Given the description of an element on the screen output the (x, y) to click on. 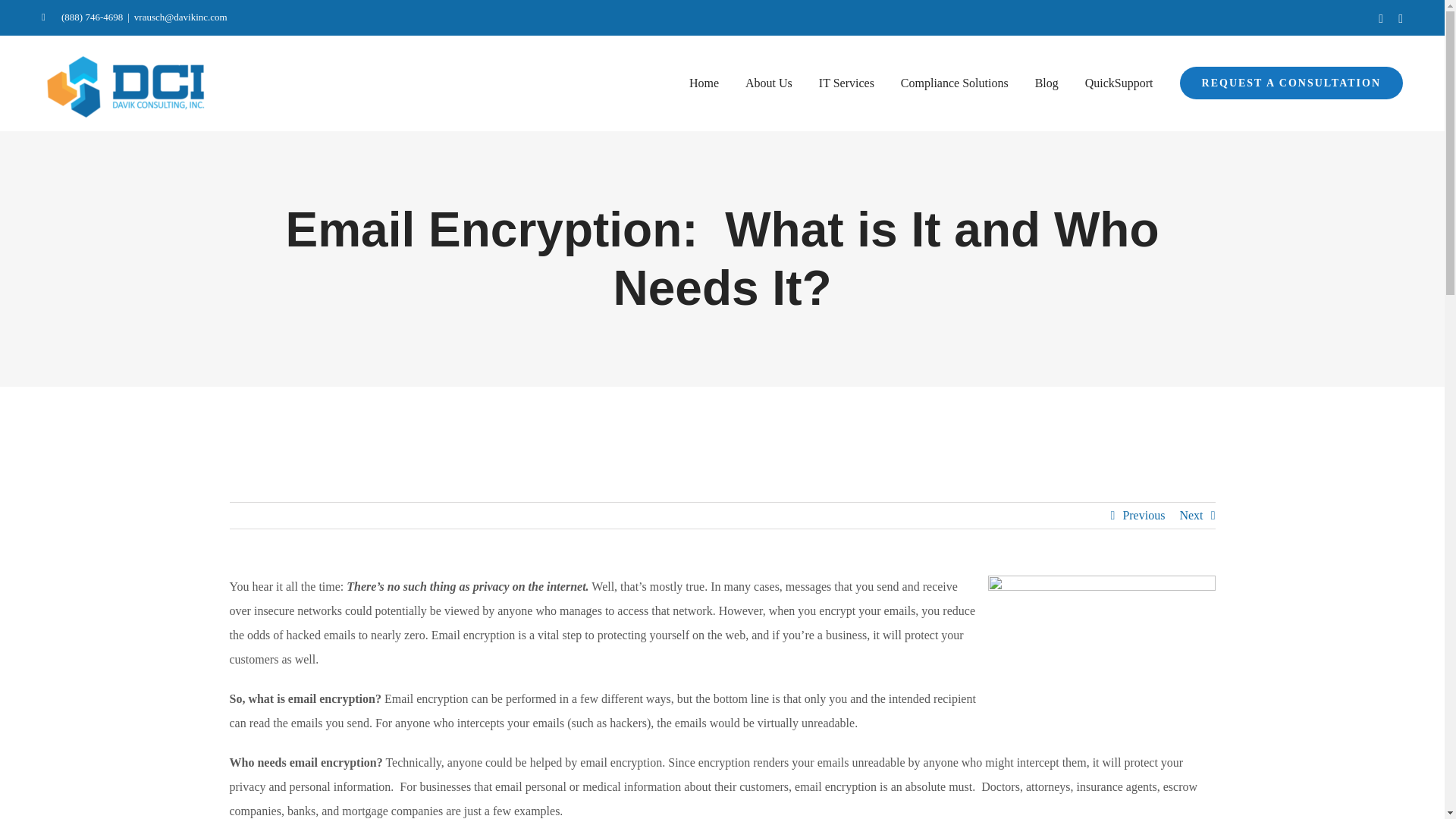
Compliance Solutions (955, 83)
Previous (1143, 515)
REQUEST A CONSULTATION (1291, 83)
Next (1190, 515)
